Given the description of an element on the screen output the (x, y) to click on. 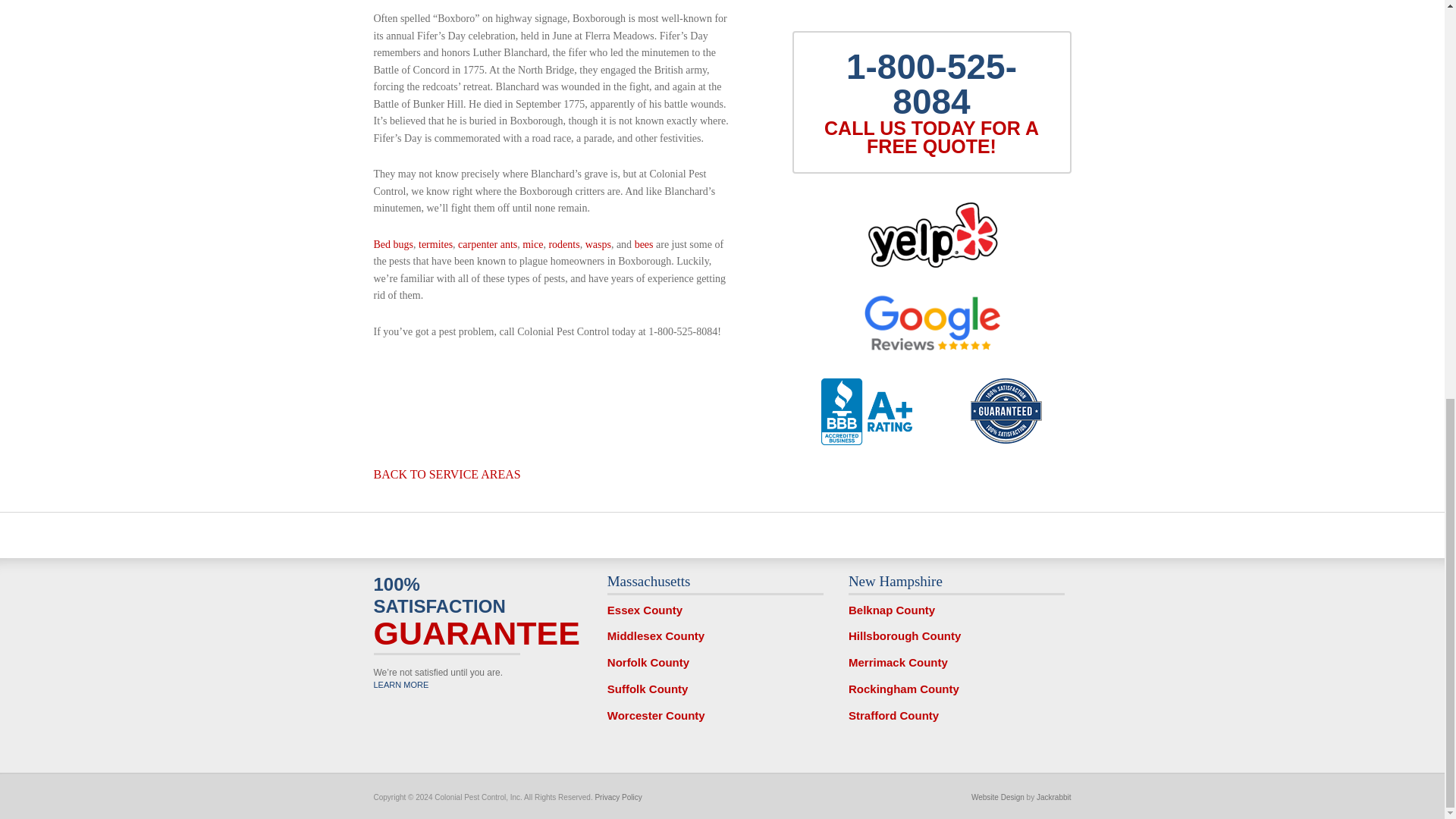
Website Design by Jackrabbit (1053, 797)
Website Design by Jackrabbit (998, 797)
